Given the description of an element on the screen output the (x, y) to click on. 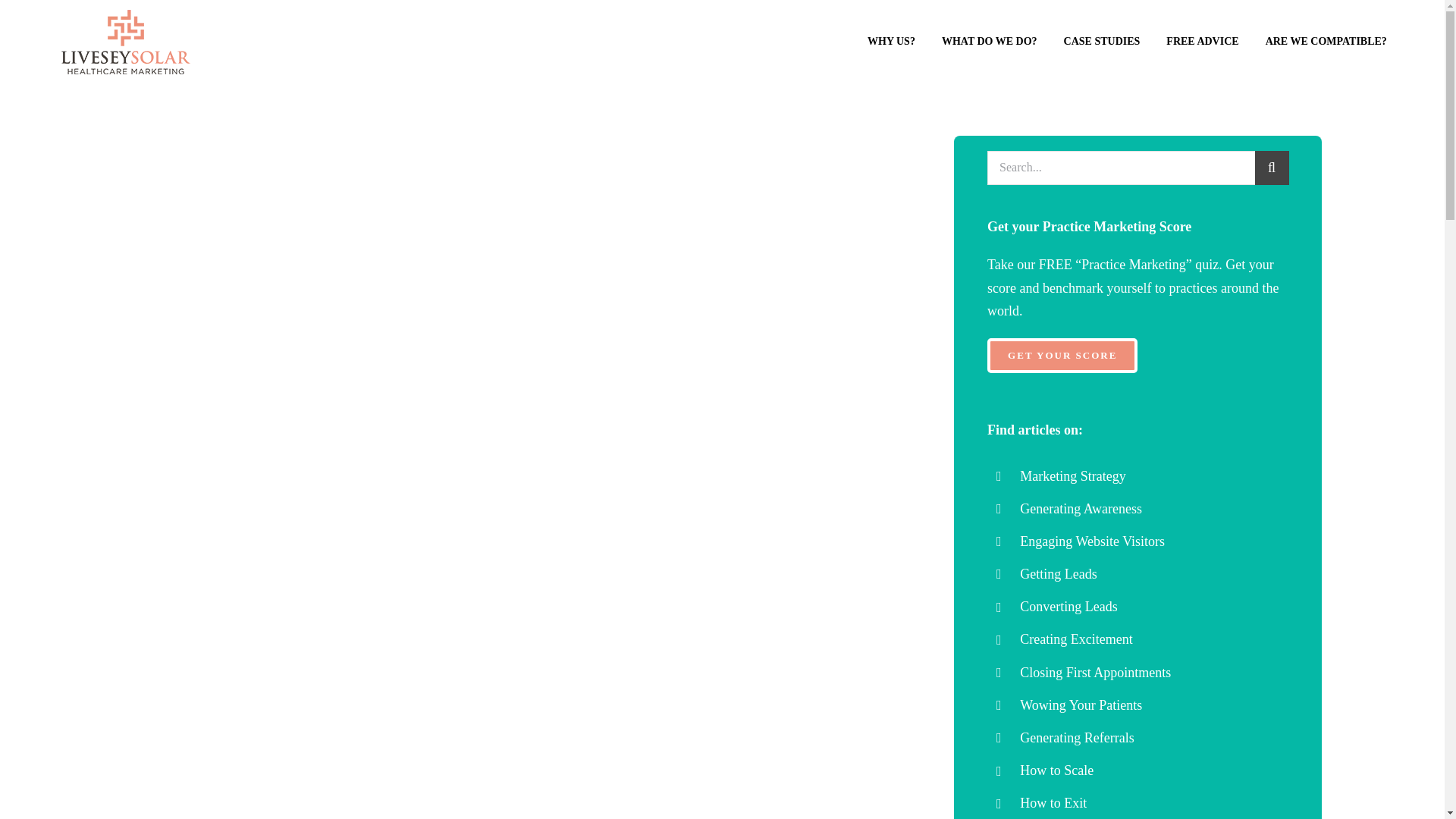
How to Scale (1056, 770)
Generating Referrals (1077, 737)
Creating Excitement (1076, 639)
Engaging Website Visitors (1092, 540)
WHAT DO WE DO? (989, 41)
Converting Leads (1068, 606)
How to Exit (1053, 802)
GET YOUR SCORE (1062, 355)
Getting Leads (1058, 573)
Generating Awareness (1080, 508)
